Given the description of an element on the screen output the (x, y) to click on. 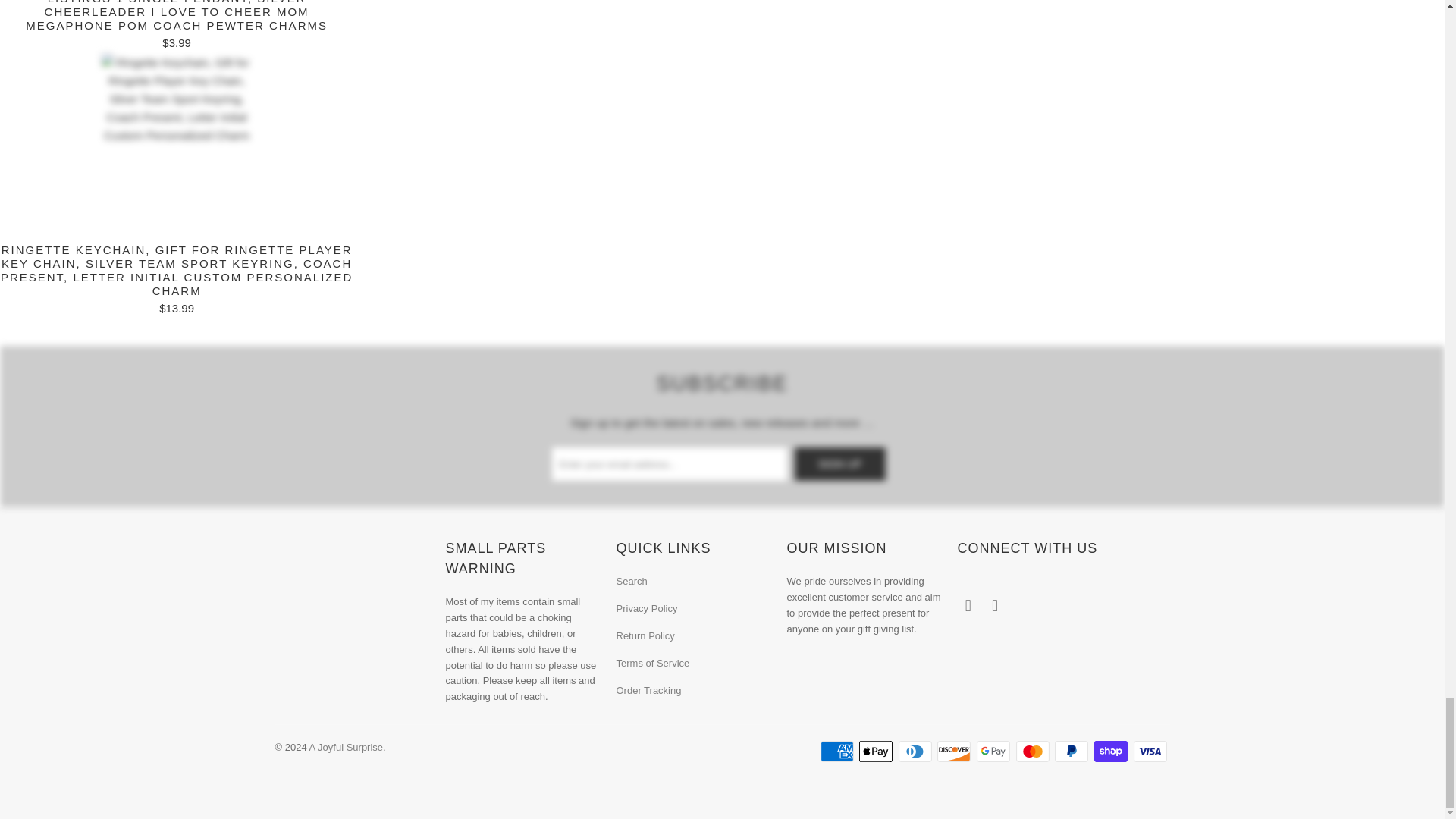
American Express (839, 751)
Sign Up (839, 463)
Google Pay (994, 751)
Shop Pay (1112, 751)
Diners Club (916, 751)
Mastercard (1034, 751)
A Joyful Surprise on Instagram (995, 606)
PayPal (1072, 751)
A Joyful Surprise on Facebook (967, 606)
Discover (955, 751)
Apple Pay (877, 751)
Visa (1150, 751)
